Given the description of an element on the screen output the (x, y) to click on. 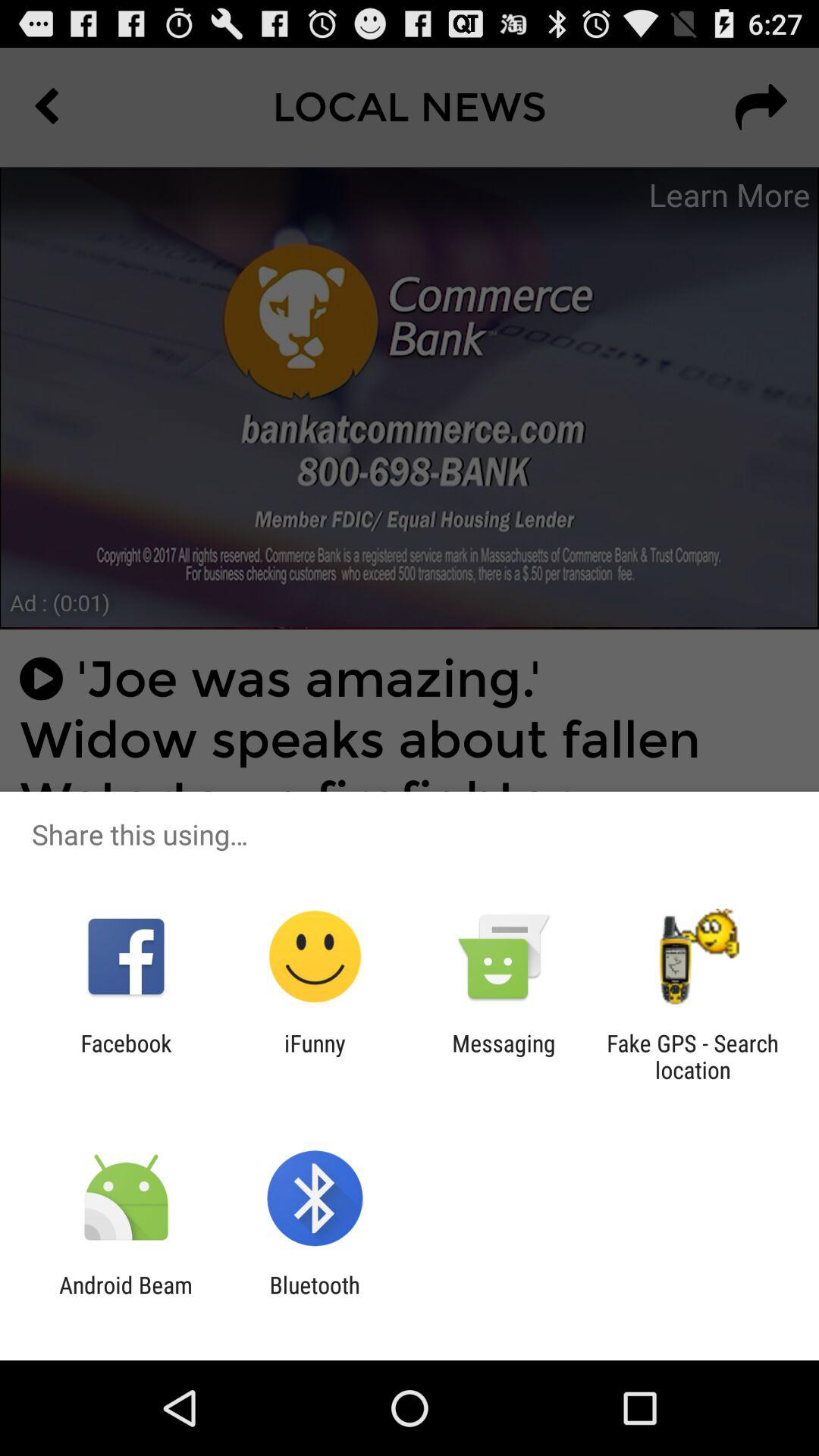
select the icon to the left of the ifunny item (125, 1056)
